Given the description of an element on the screen output the (x, y) to click on. 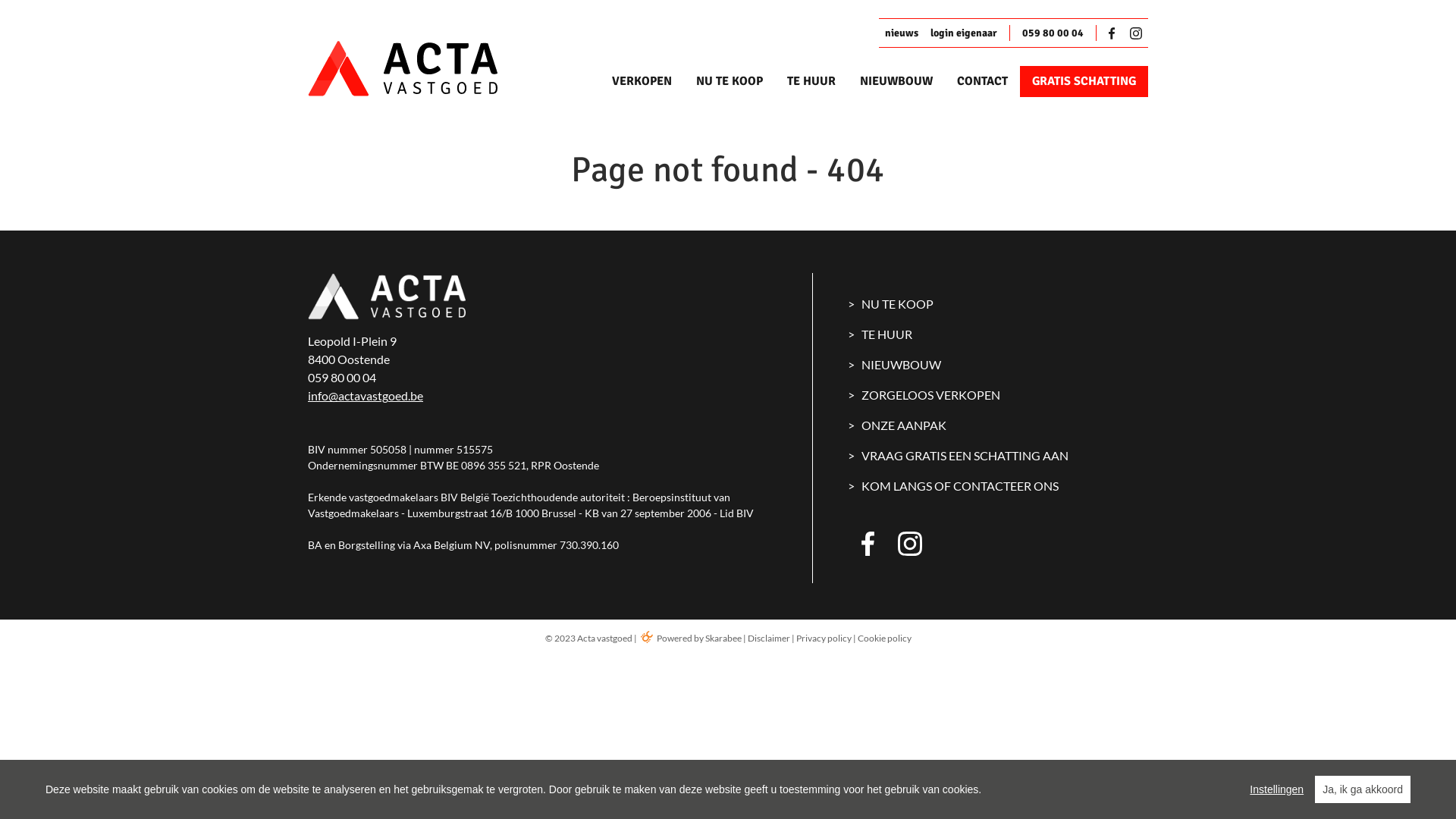
Facebook Element type: text (1114, 33)
CONTACT Element type: text (982, 81)
TE HUUR Element type: text (811, 81)
TE HUUR Element type: text (998, 334)
NIEUWBOUW Element type: text (895, 81)
NU TE KOOP Element type: text (998, 303)
VERKOPEN Element type: text (641, 81)
VRAAG GRATIS EEN SCHATTING AAN Element type: text (998, 455)
059 80 00 04 Element type: text (341, 377)
Powered by Skarabee Element type: text (689, 637)
info@actavastgoed.be Element type: text (365, 395)
Instagram Element type: text (1135, 33)
Link homepage Element type: hover (386, 296)
Ja, ik ga akkoord Element type: text (1362, 789)
NIEUWBOUW Element type: text (998, 364)
Cookie policy Element type: text (883, 637)
NU TE KOOP Element type: text (729, 81)
Disclaimer Element type: text (768, 637)
FACEBOOK Element type: text (873, 543)
059 80 00 04 Element type: text (1052, 32)
nieuws Element type: text (901, 32)
Link homepage Element type: hover (428, 68)
Menu overslaan en naar de inhoud gaan Element type: text (0, 0)
INSTAGRAM Element type: text (909, 543)
KOM LANGS OF CONTACTEER ONS Element type: text (998, 485)
GRATIS SCHATTING Element type: text (1083, 81)
login eigenaar Element type: text (963, 32)
Instellingen Element type: text (1276, 789)
Privacy policy Element type: text (823, 637)
ONZE AANPAK Element type: text (998, 425)
ZORGELOOS VERKOPEN Element type: text (998, 394)
